Given the description of an element on the screen output the (x, y) to click on. 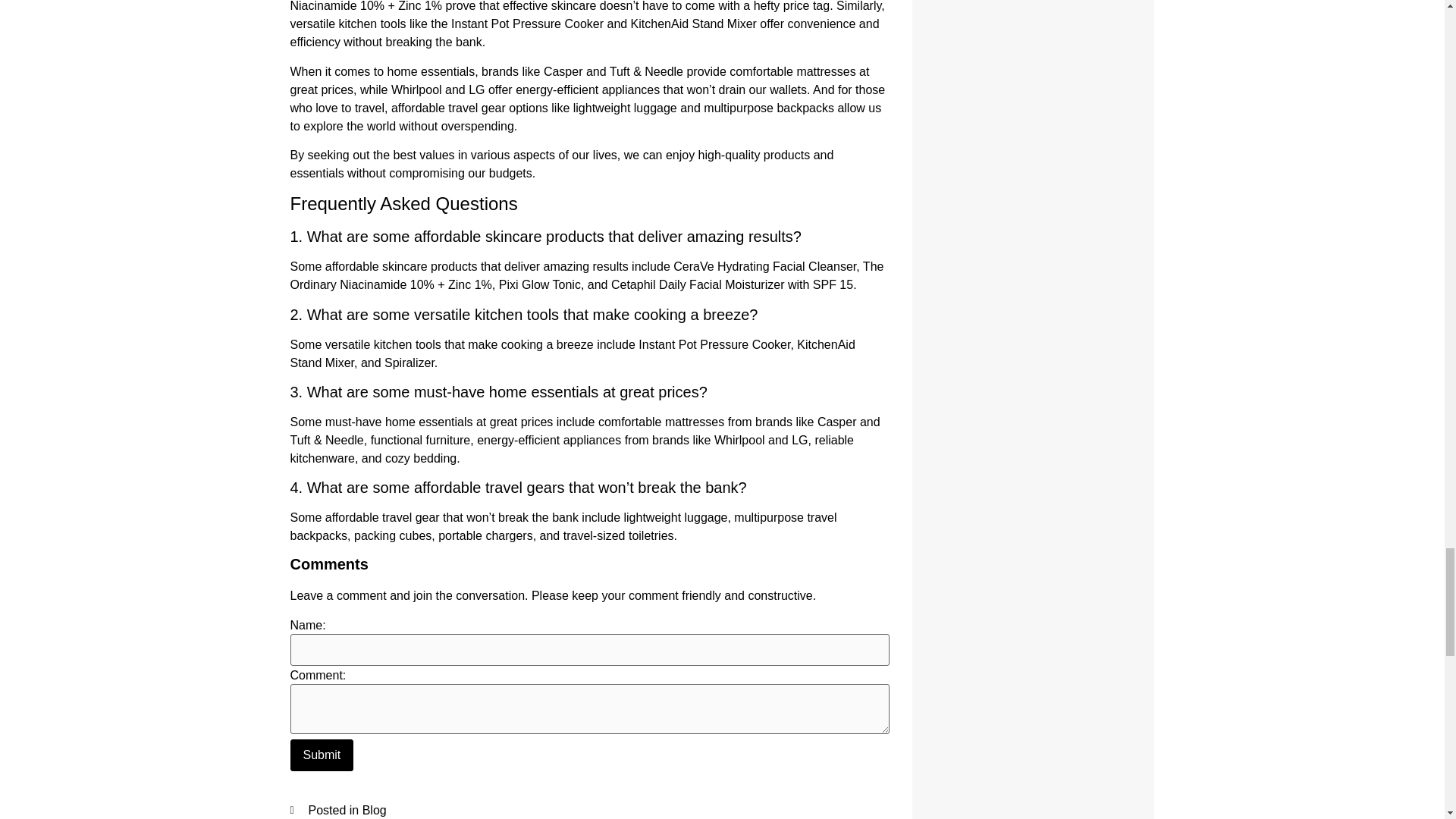
Blog (374, 809)
Submit (321, 755)
Submit (321, 755)
